Given the description of an element on the screen output the (x, y) to click on. 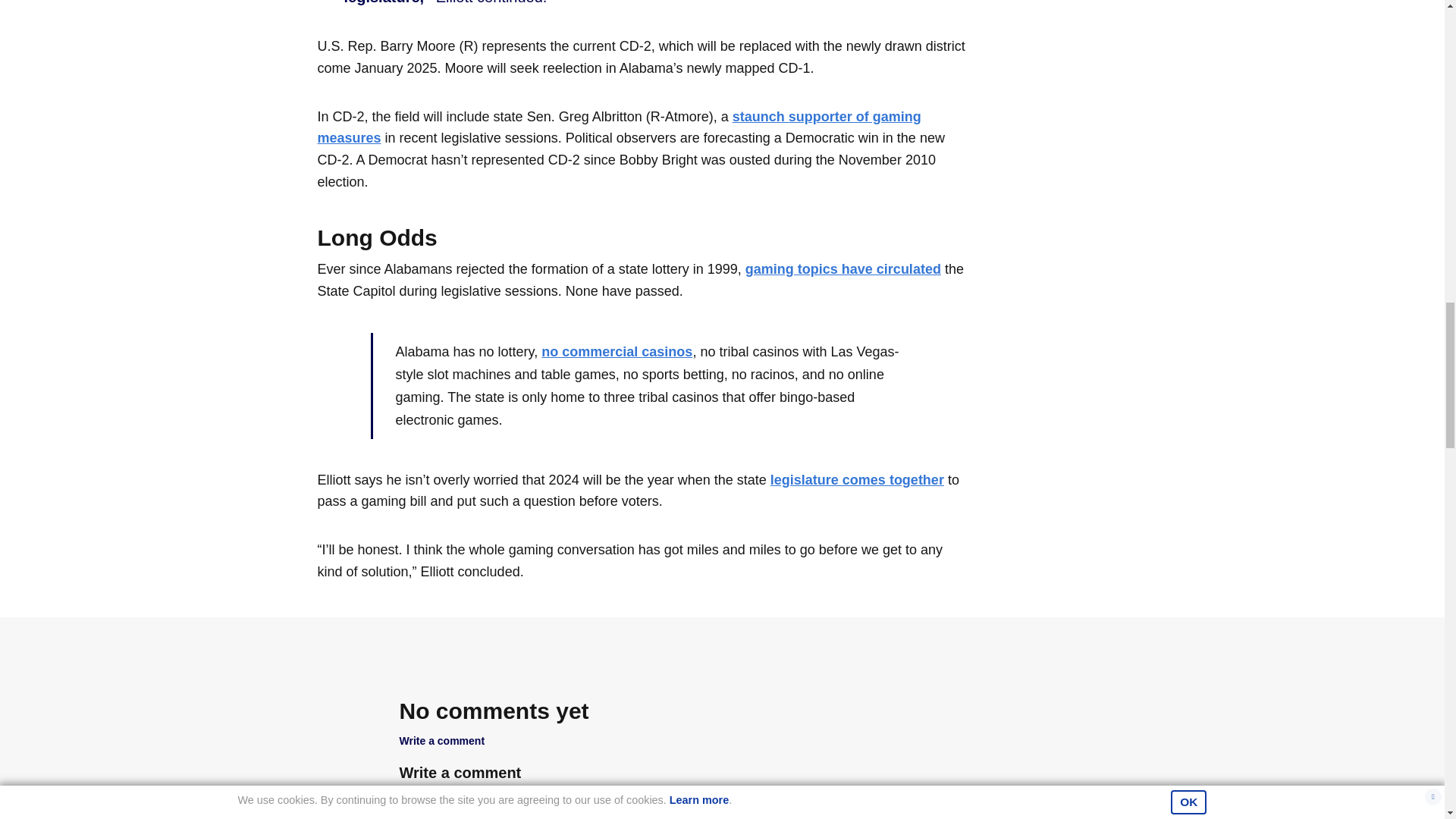
staunch supporter of gaming measures (618, 127)
no commercial casinos (617, 351)
legislature comes together (856, 479)
gaming topics have circulated (842, 268)
